Given the description of an element on the screen output the (x, y) to click on. 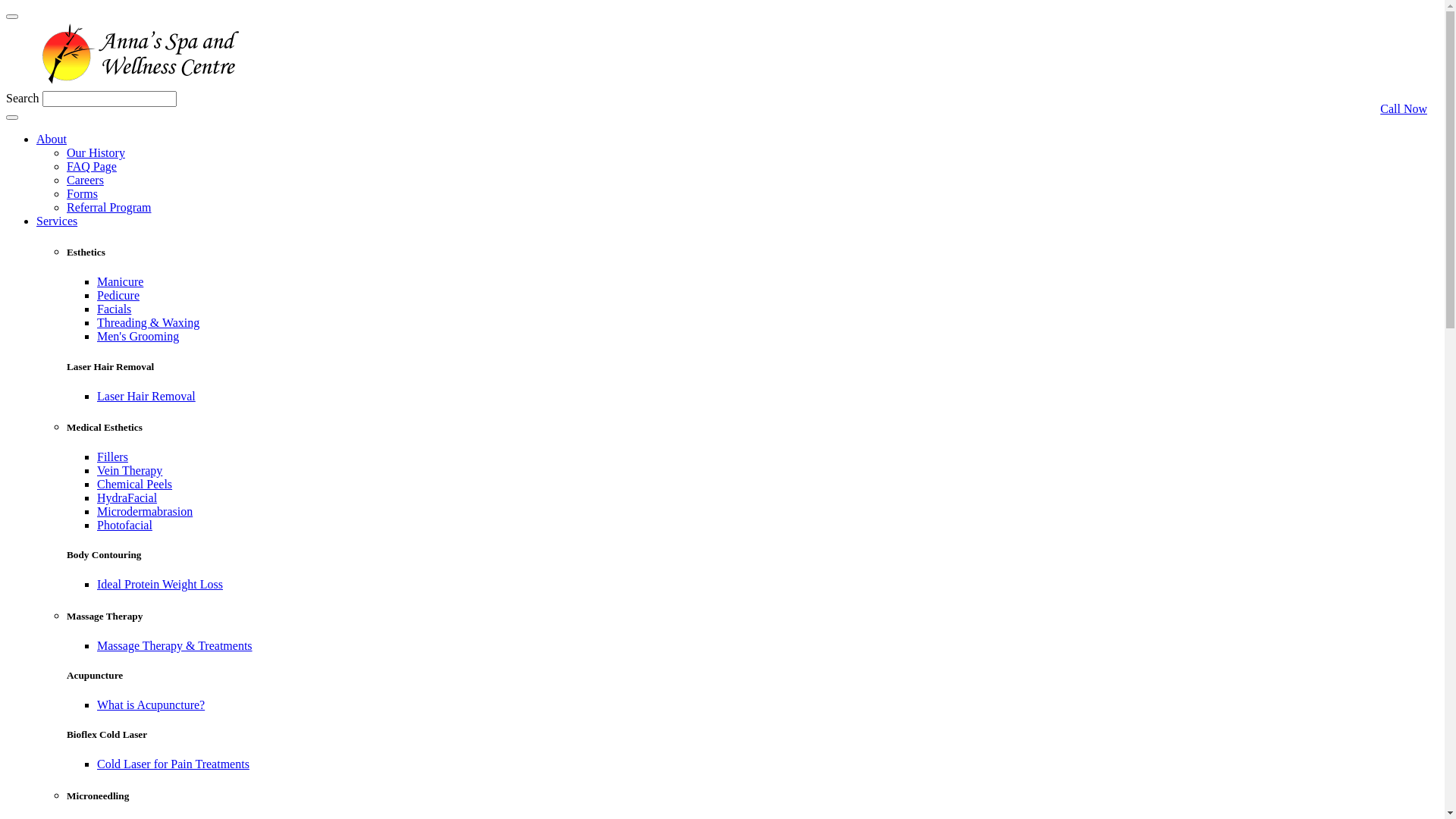
Pedicure Element type: text (118, 294)
Chemical Peels Element type: text (134, 483)
Massage Therapy & Treatments Element type: text (174, 645)
Call Now Element type: text (1403, 103)
Microdermabrasion Element type: text (144, 511)
Careers Element type: text (84, 179)
Our History Element type: text (95, 152)
About Element type: text (51, 138)
Facials Element type: text (114, 308)
HydraFacial Element type: text (126, 497)
Threading & Waxing Element type: text (148, 322)
FAQ Page Element type: text (91, 166)
Manicure Element type: text (120, 281)
Laser Hair Removal Element type: text (146, 395)
Ideal Protein Weight Loss Element type: text (159, 583)
Forms Element type: text (81, 193)
Referral Program Element type: text (108, 206)
Vein Therapy Element type: text (129, 470)
Photofacial Element type: text (124, 524)
What is Acupuncture? Element type: text (150, 704)
Fillers Element type: text (112, 456)
Men's Grooming Element type: text (137, 335)
Cold Laser for Pain Treatments Element type: text (173, 763)
Services Element type: text (56, 220)
